Given the description of an element on the screen output the (x, y) to click on. 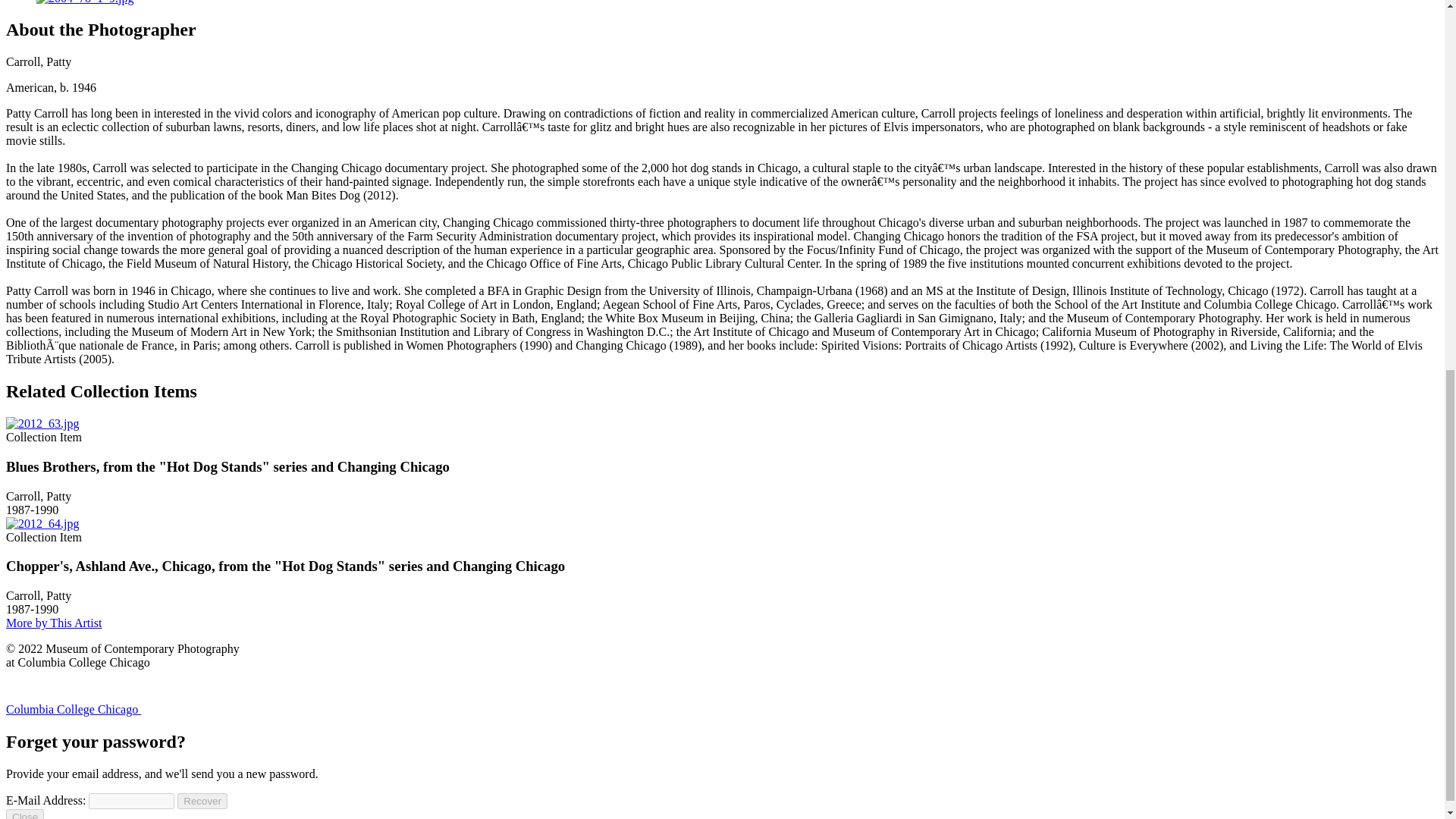
Recover (202, 801)
Recover (202, 801)
Columbia College Chicago (128, 708)
More by This Artist (53, 622)
